Given the description of an element on the screen output the (x, y) to click on. 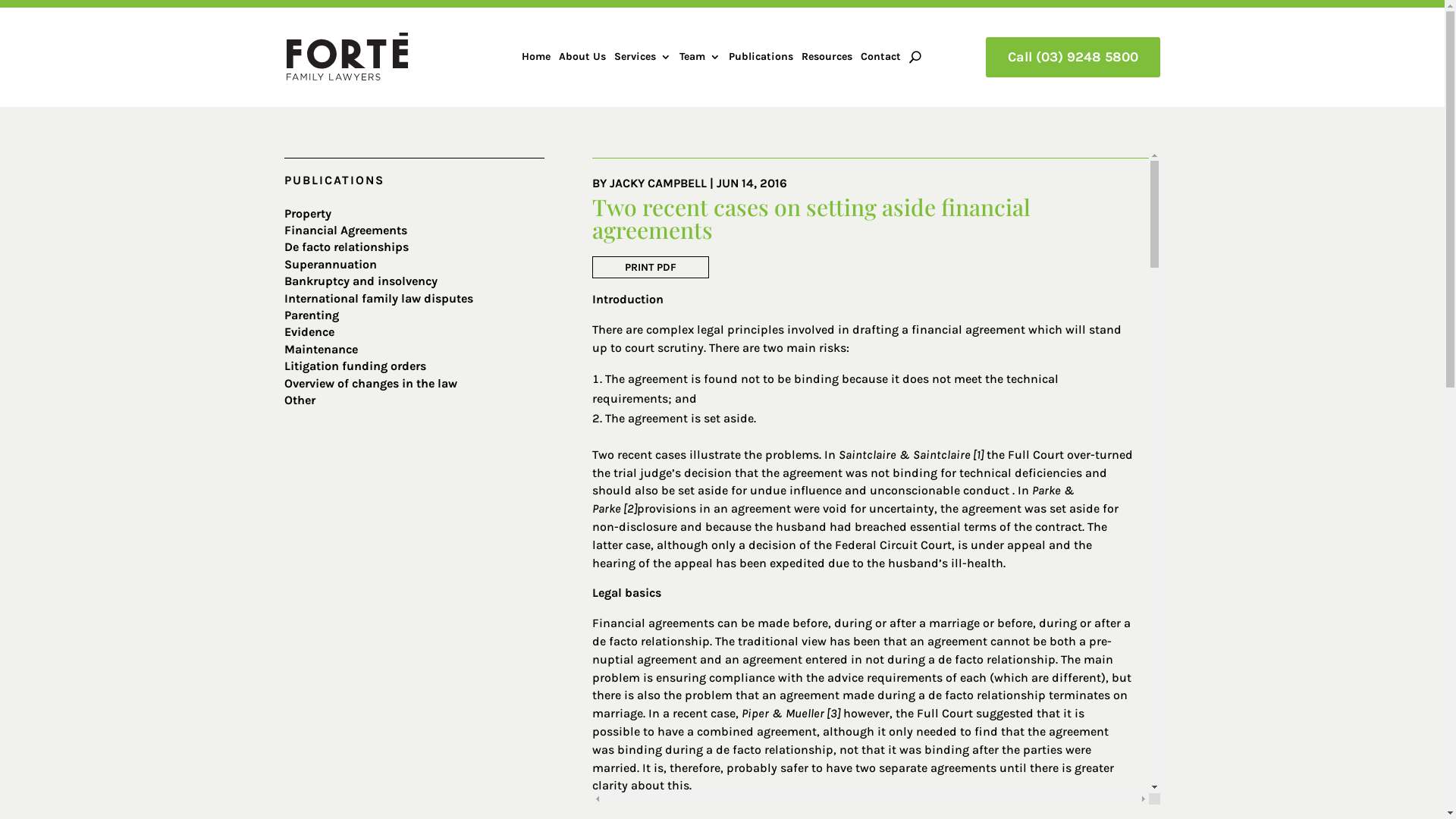
International family law disputes Element type: text (378, 298)
Property Element type: text (307, 213)
Call (03) 9248 5800 Element type: text (1072, 57)
De facto relationships Element type: text (346, 246)
Financial Agreements Element type: text (345, 229)
Home Element type: text (535, 59)
Team Element type: text (699, 59)
About Us Element type: text (581, 59)
Resources Element type: text (826, 59)
Litigation funding orders Element type: text (355, 365)
logo Element type: hover (346, 56)
Other Element type: text (299, 399)
Bankruptcy and insolvency Element type: text (360, 280)
Contact Element type: text (880, 59)
Superannuation Element type: text (330, 264)
JACKY CAMPBELL Element type: text (657, 182)
Evidence Element type: text (309, 331)
PRINT PDF Element type: text (650, 267)
Maintenance Element type: text (320, 349)
Overview of changes in the law Element type: text (370, 383)
Publications Element type: text (760, 59)
Services Element type: text (642, 59)
Parenting Element type: text (311, 314)
